Given the description of an element on the screen output the (x, y) to click on. 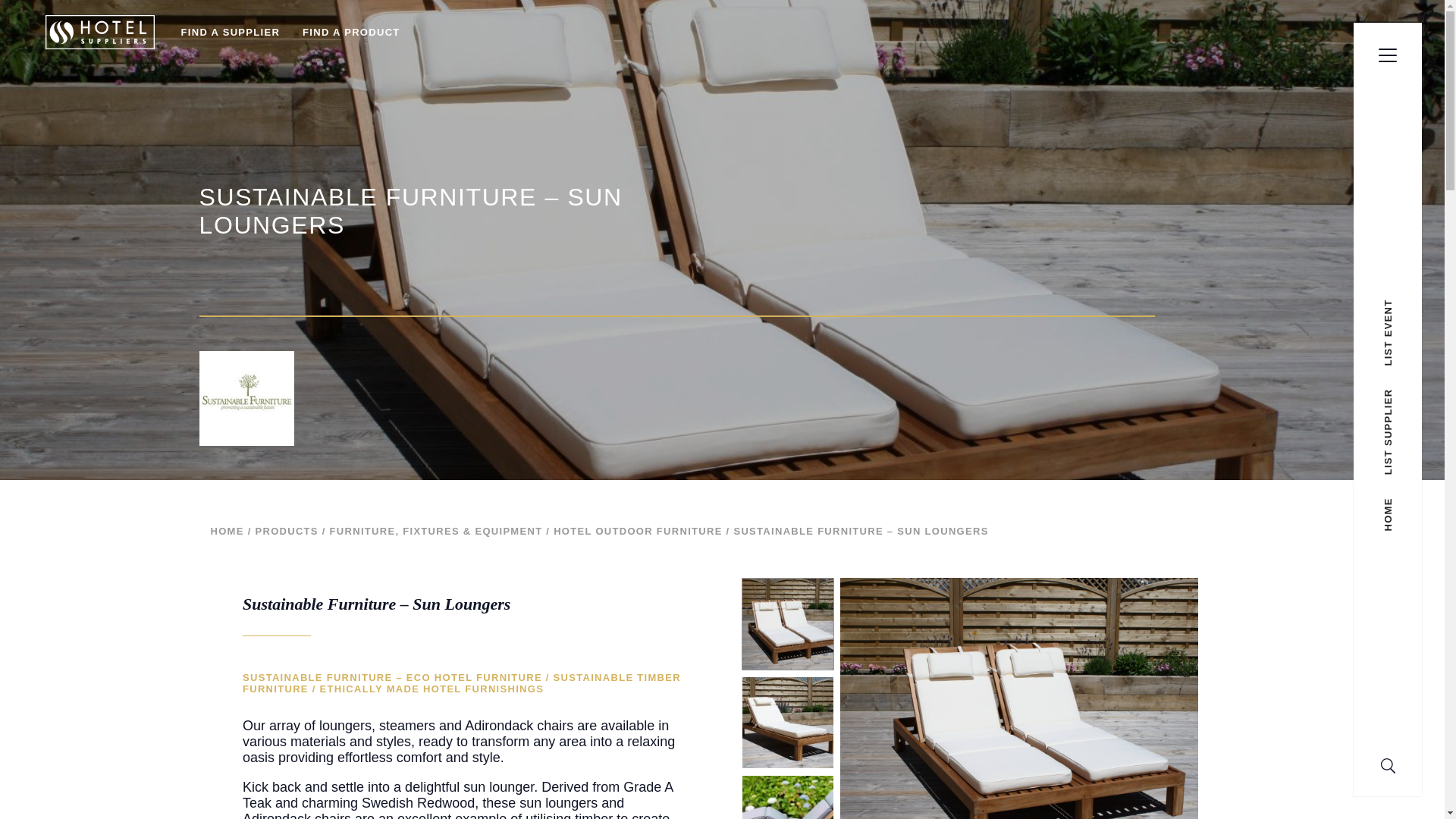
FIND A PRODUCT (350, 32)
HOTEL OUTDOOR FURNITURE (637, 531)
HOME (227, 531)
PRODUCTS (285, 531)
FIND A SUPPLIER (231, 32)
